Given the description of an element on the screen output the (x, y) to click on. 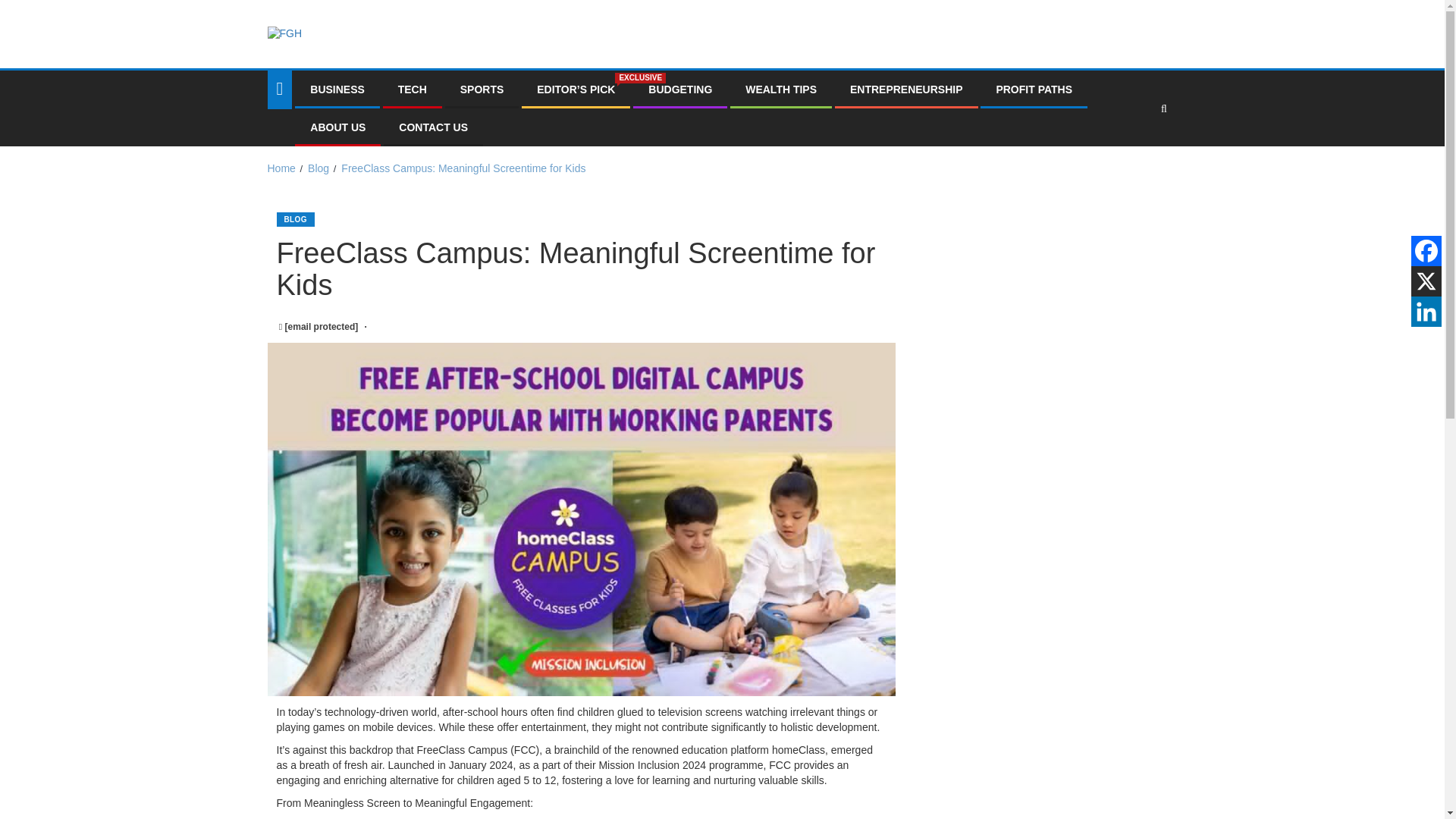
ABOUT US (337, 127)
BUDGETING (679, 89)
FreeClass Campus: Meaningful Screentime for Kids (462, 168)
CONTACT US (432, 127)
PROFIT PATHS (1033, 89)
X (1425, 281)
Home (280, 168)
Linkedin (1425, 311)
Search (1133, 154)
Facebook (1425, 250)
